Given the description of an element on the screen output the (x, y) to click on. 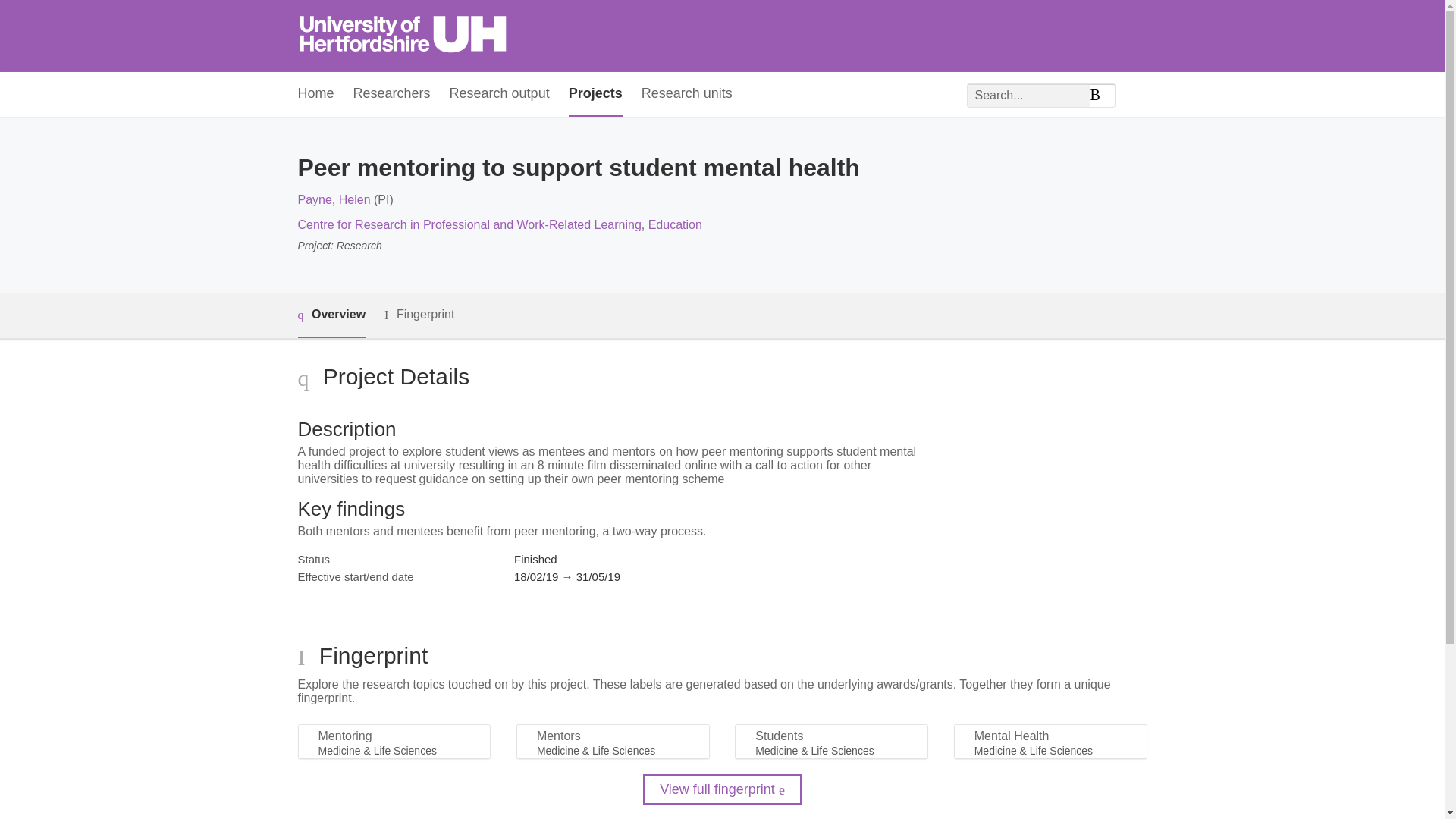
Education (674, 224)
Research output (499, 94)
Payne, Helen (333, 199)
View full fingerprint (722, 788)
Projects (596, 94)
Home (315, 94)
Research units (687, 94)
Fingerprint (419, 314)
Researchers (391, 94)
Overview (331, 315)
